Given the description of an element on the screen output the (x, y) to click on. 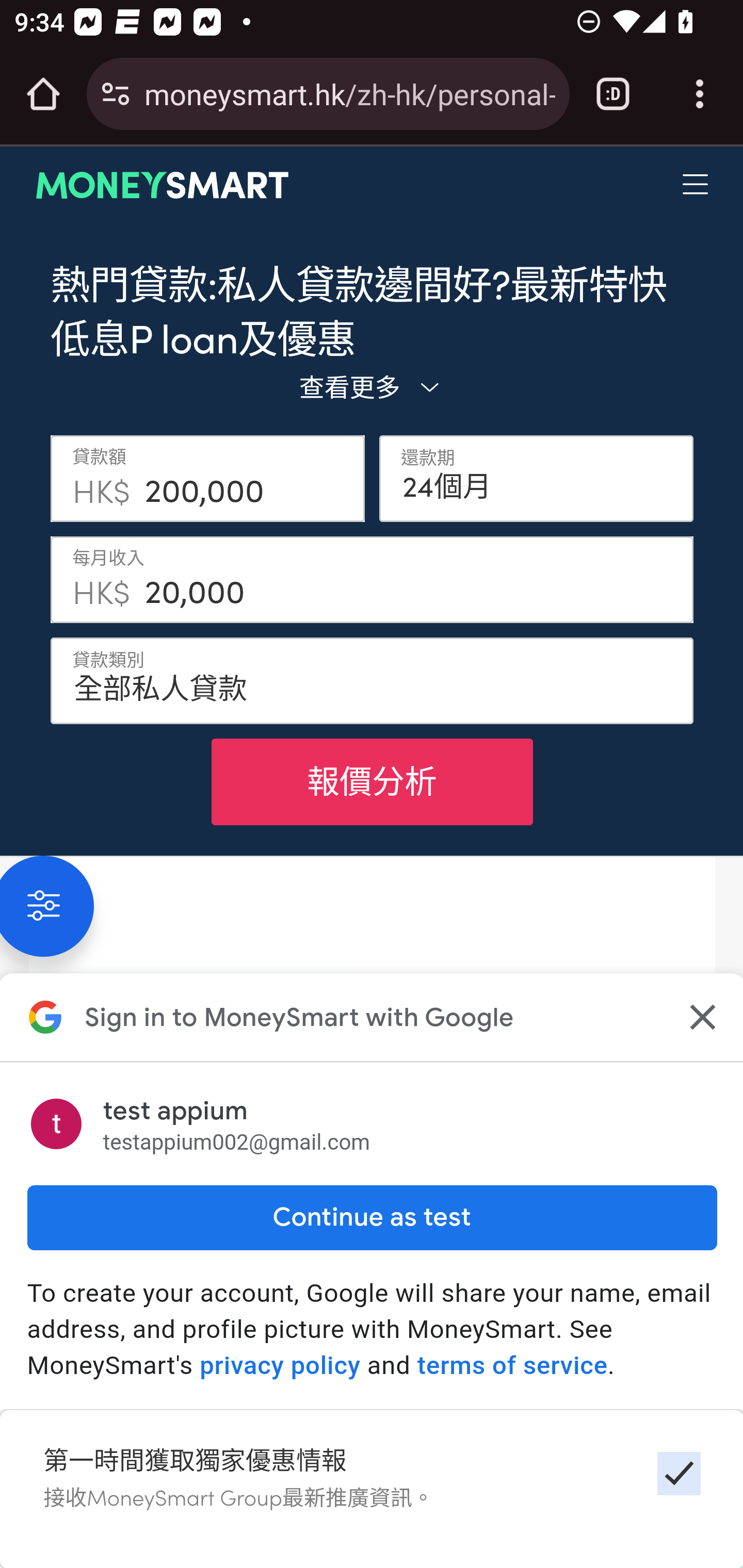
Open the home page (43, 93)
Connection is secure (115, 93)
Switch or close tabs (612, 93)
Customize and control Google Chrome (699, 93)
MoneySmart Logo (162, 184)
mobile menu (695, 184)
查看更多  (371, 385)
200,000 (248, 477)
還款期 (536, 477)
報價分析 (371, 781)
Close (700, 1016)
Continue as test (371, 1217)
privacy policy (279, 1365)
terms of service (511, 1365)
